Given the description of an element on the screen output the (x, y) to click on. 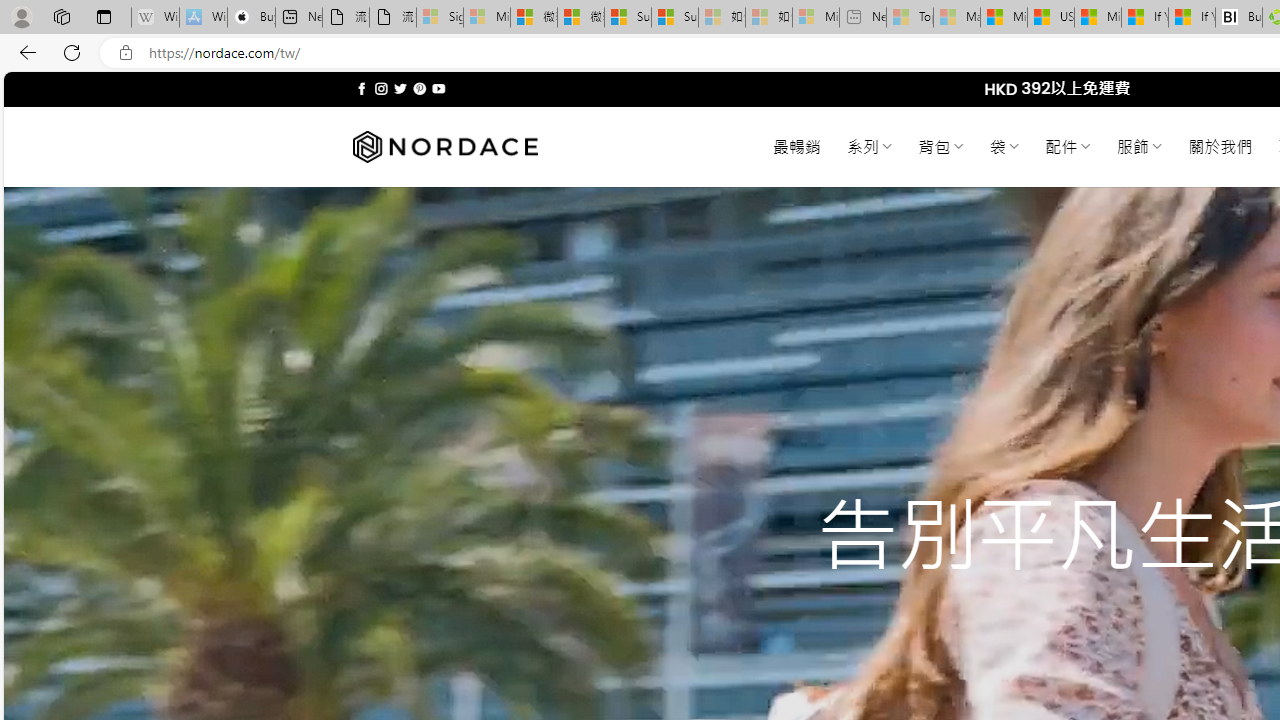
Microsoft account | Account Checkup - Sleeping (815, 17)
